Given the description of an element on the screen output the (x, y) to click on. 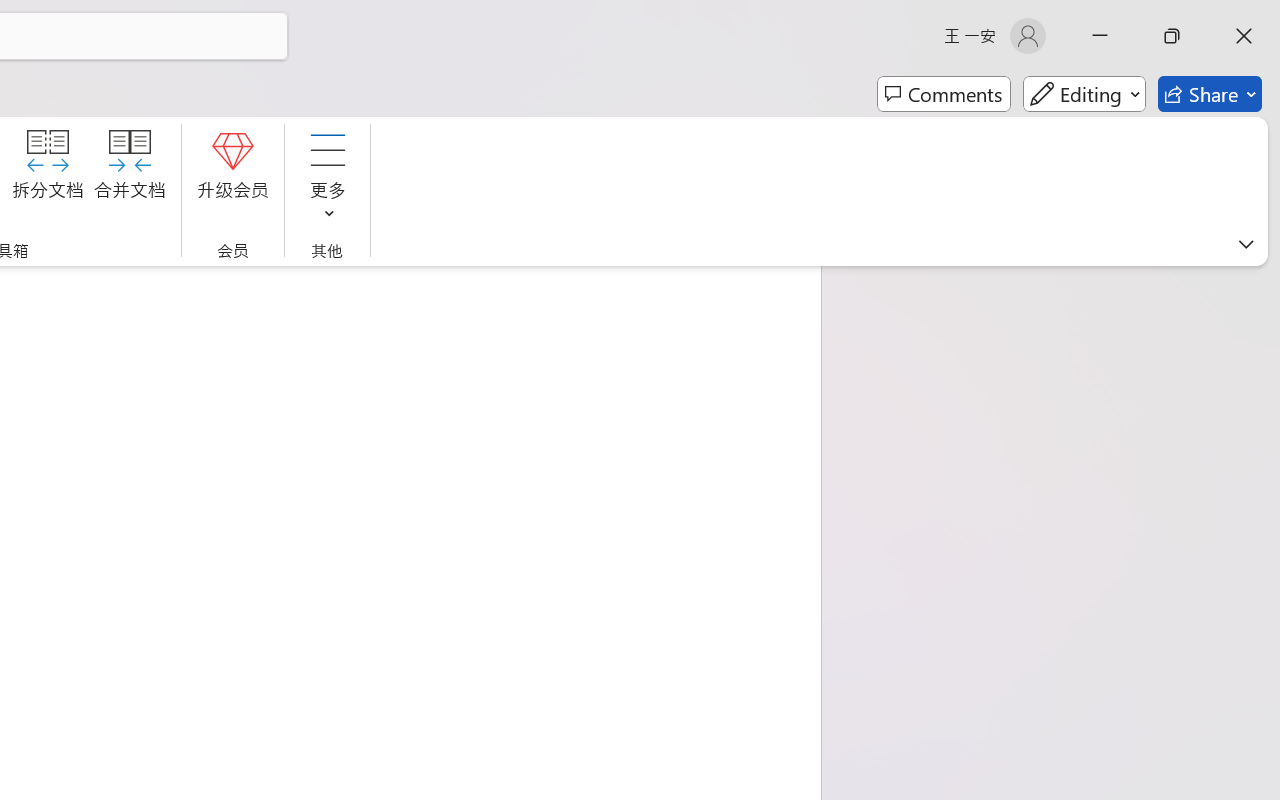
Comments (943, 94)
Minimize (1099, 36)
Restore Down (1172, 36)
Close (1244, 36)
Share (1210, 94)
Mode (1083, 94)
